Given the description of an element on the screen output the (x, y) to click on. 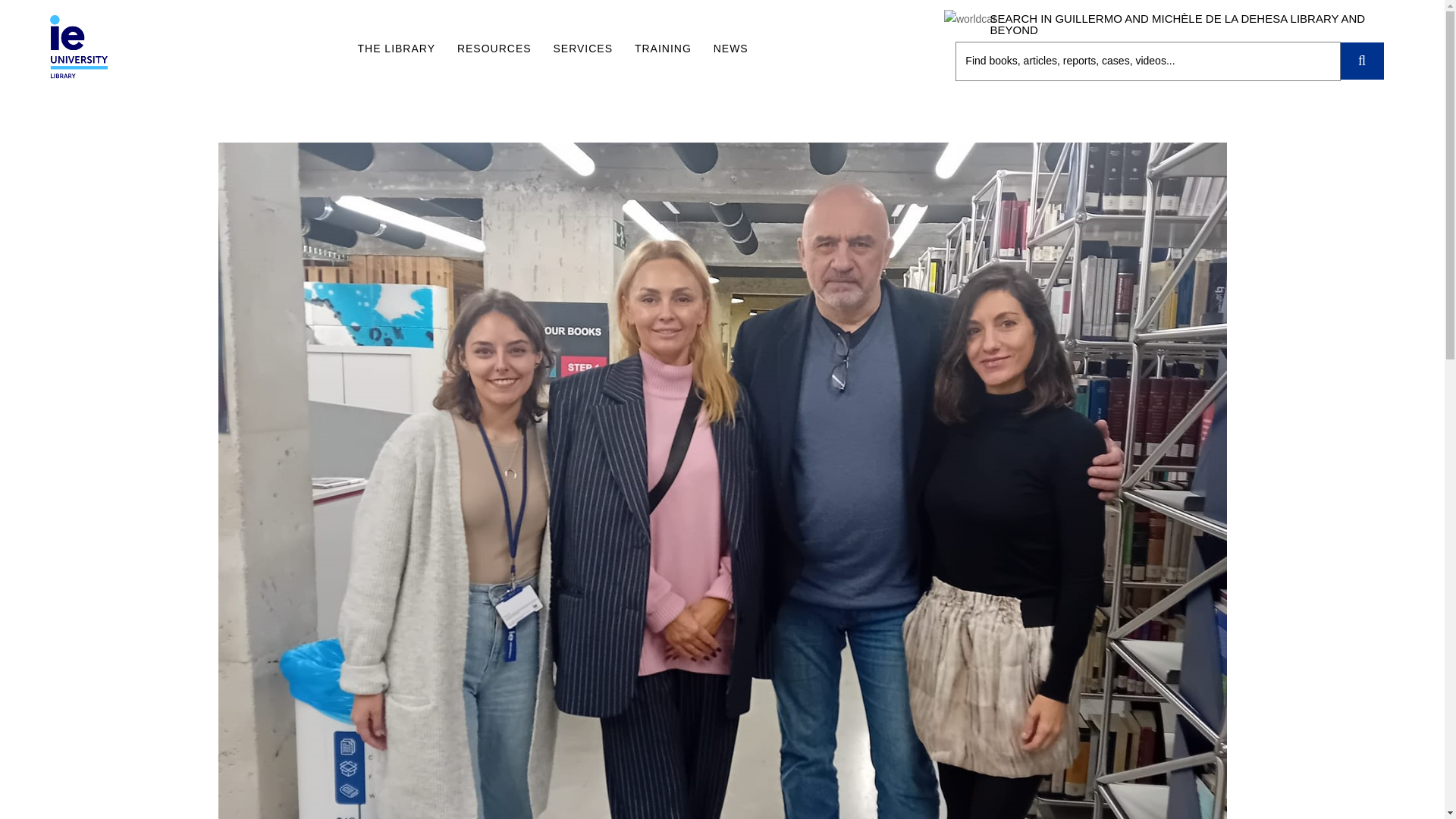
worldcat (969, 18)
